Given the description of an element on the screen output the (x, y) to click on. 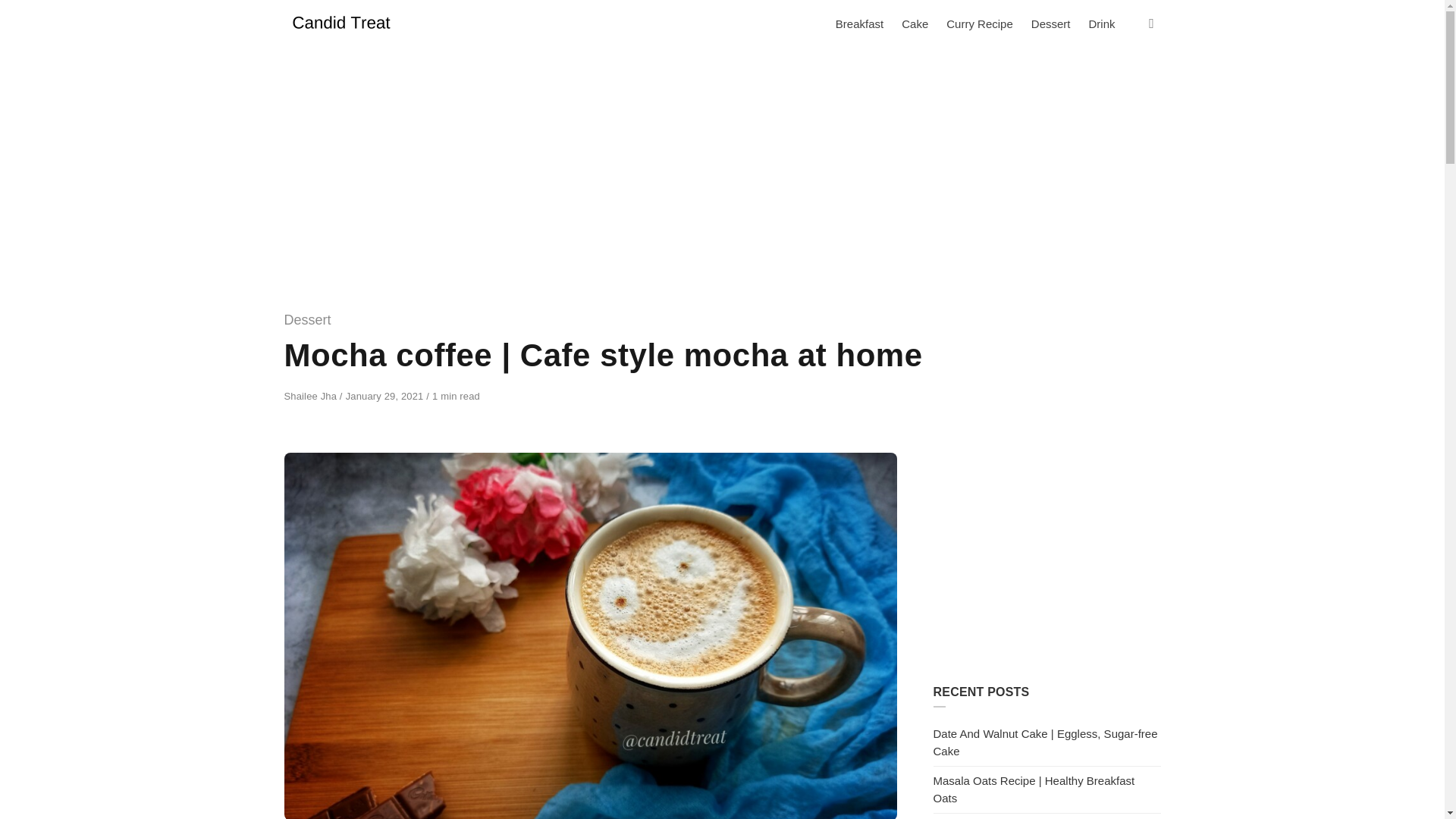
Shailee Jha (311, 396)
Breakfast (859, 24)
January 29, 2021 (386, 396)
Curry Recipe (979, 24)
January 29, 2021 (386, 396)
Drink (1101, 24)
Dessert (306, 319)
Dessert (1051, 24)
Cake (914, 24)
